Given the description of an element on the screen output the (x, y) to click on. 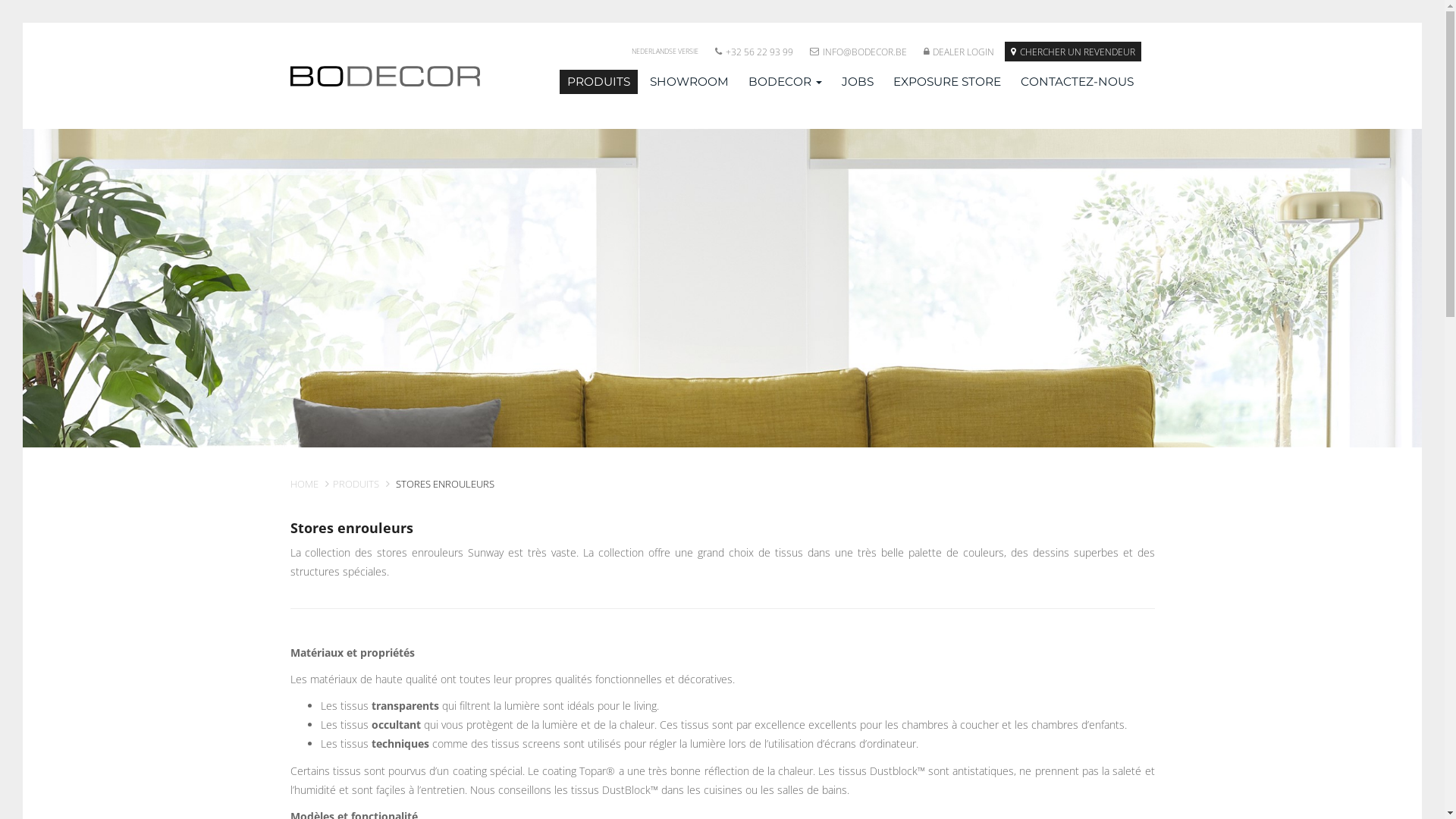
PRODUITS Element type: text (598, 81)
SHOWROOM Element type: text (688, 81)
EXPOSURE STORE Element type: text (946, 81)
BODECOR Element type: text (784, 81)
CHERCHER UN REVENDEUR Element type: text (1072, 51)
NEDERLANDSE VERSIE Element type: text (663, 51)
HOME Element type: text (303, 483)
JOBS Element type: text (857, 81)
STORES ENROULEURS Element type: text (442, 483)
PRODUITS Element type: text (355, 483)
+32 56 22 93 99 Element type: text (753, 51)
DEALER LOGIN Element type: text (958, 51)
Bodecor Element type: text (385, 75)
INFO@BODECOR.BE Element type: text (858, 51)
CONTACTEZ-NOUS Element type: text (1077, 81)
